Given the description of an element on the screen output the (x, y) to click on. 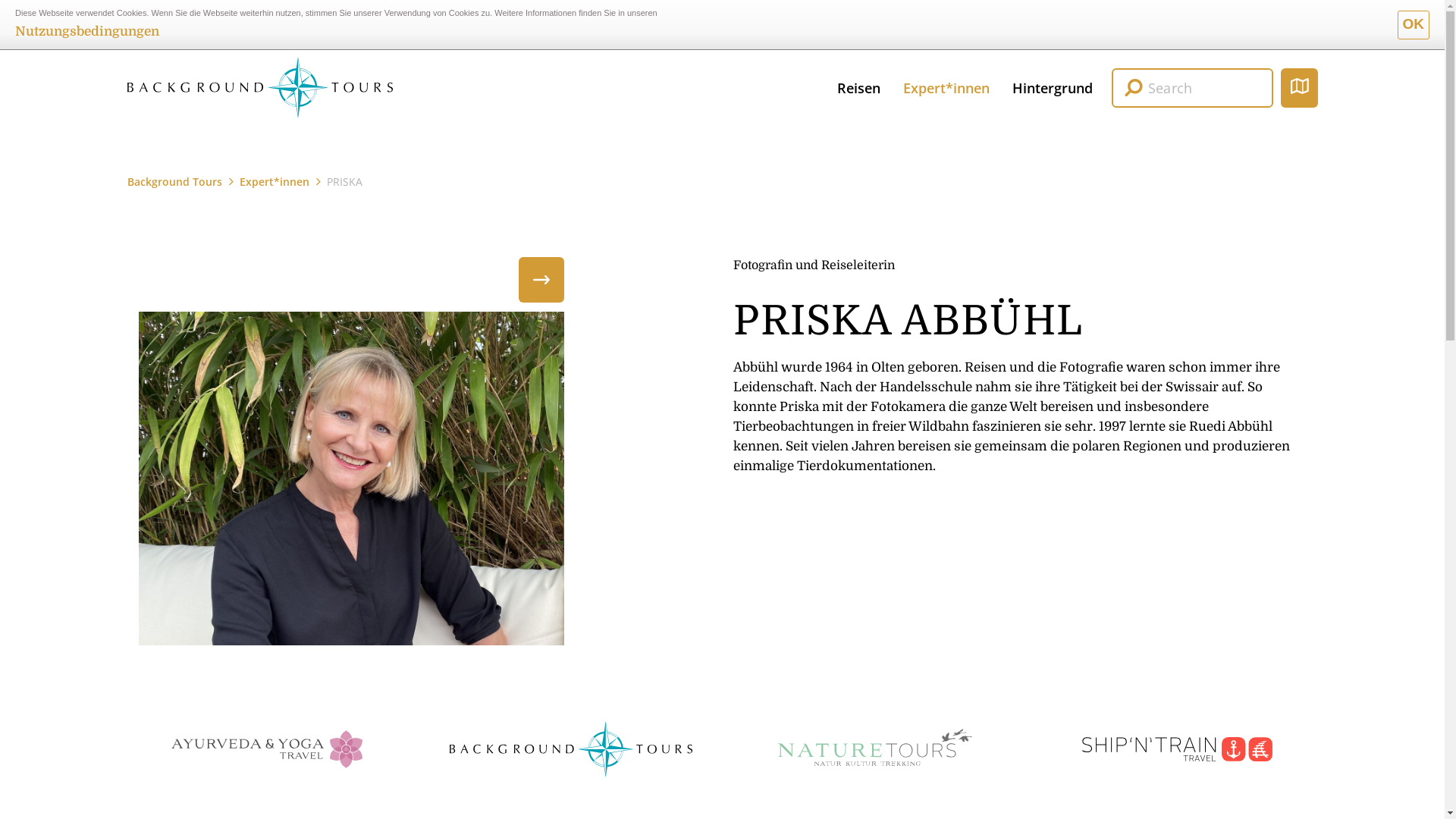
Expert*innen Element type: text (274, 181)
Ship'N'Train Logo Element type: hover (1176, 749)
Background tours logo Element type: hover (569, 748)
News Element type: text (1304, 29)
OK Element type: text (1412, 24)
Background Tours Element type: text (174, 181)
Reisen Element type: text (858, 87)
Home Element type: hover (259, 86)
Home Element type: hover (259, 86)
Ayurveda & Yoga Travel Element type: hover (266, 748)
Nature Tours Element type: hover (873, 749)
Hintergrund Element type: text (1052, 87)
Kontakt Element type: text (1250, 29)
Reiseinfo Element type: text (1121, 29)
Expert*innen Element type: text (946, 87)
Nutzungsbedingungen Element type: text (87, 31)
